Given the description of an element on the screen output the (x, y) to click on. 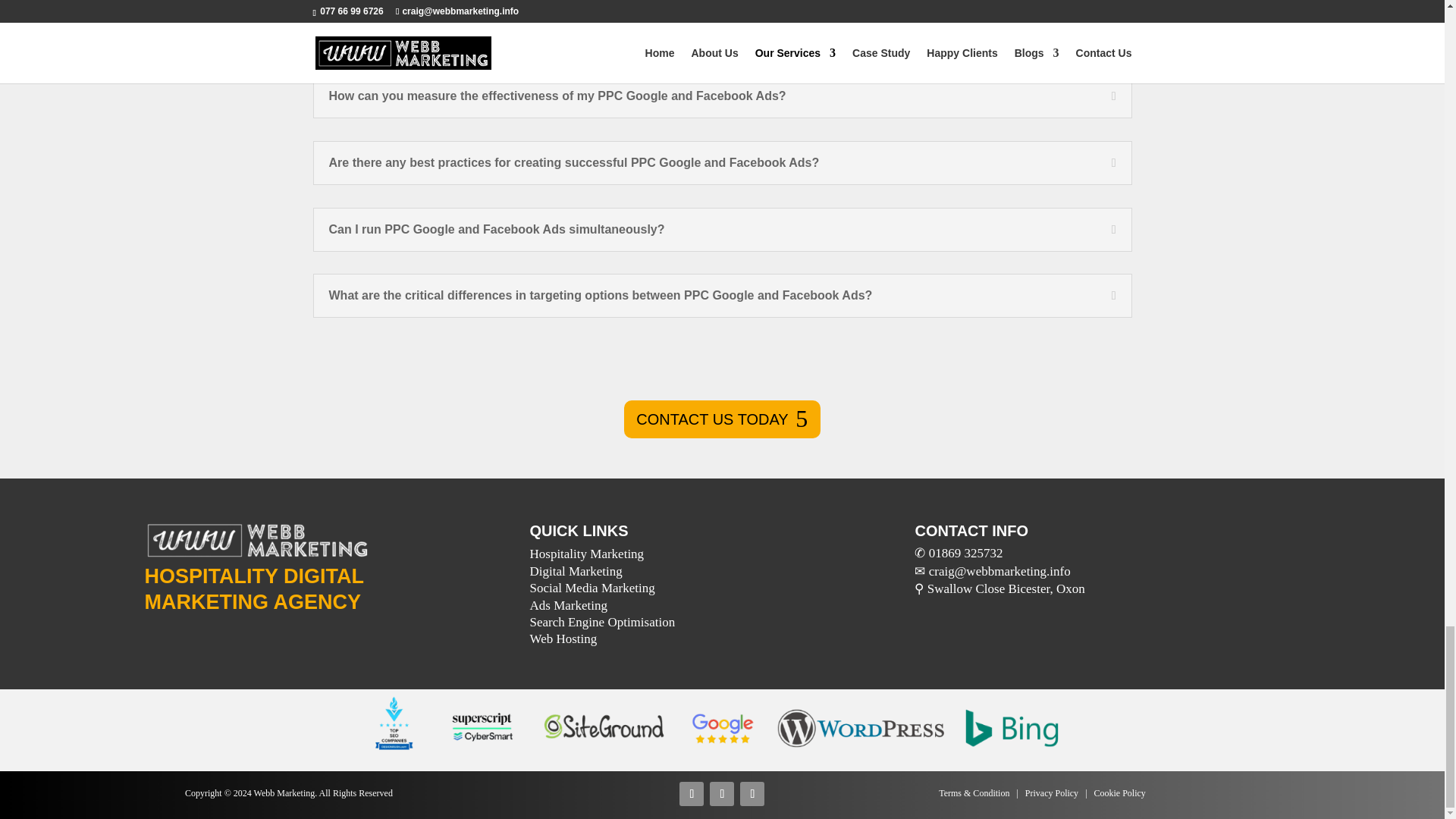
Follow on LinkedIn (721, 793)
Follow on Instagram (751, 793)
Privacy Policy (1051, 792)
 Cookie Policy (1118, 792)
Follow on Facebook (691, 793)
site reviews (722, 729)
CONTACT US TODAY (721, 419)
